Given the description of an element on the screen output the (x, y) to click on. 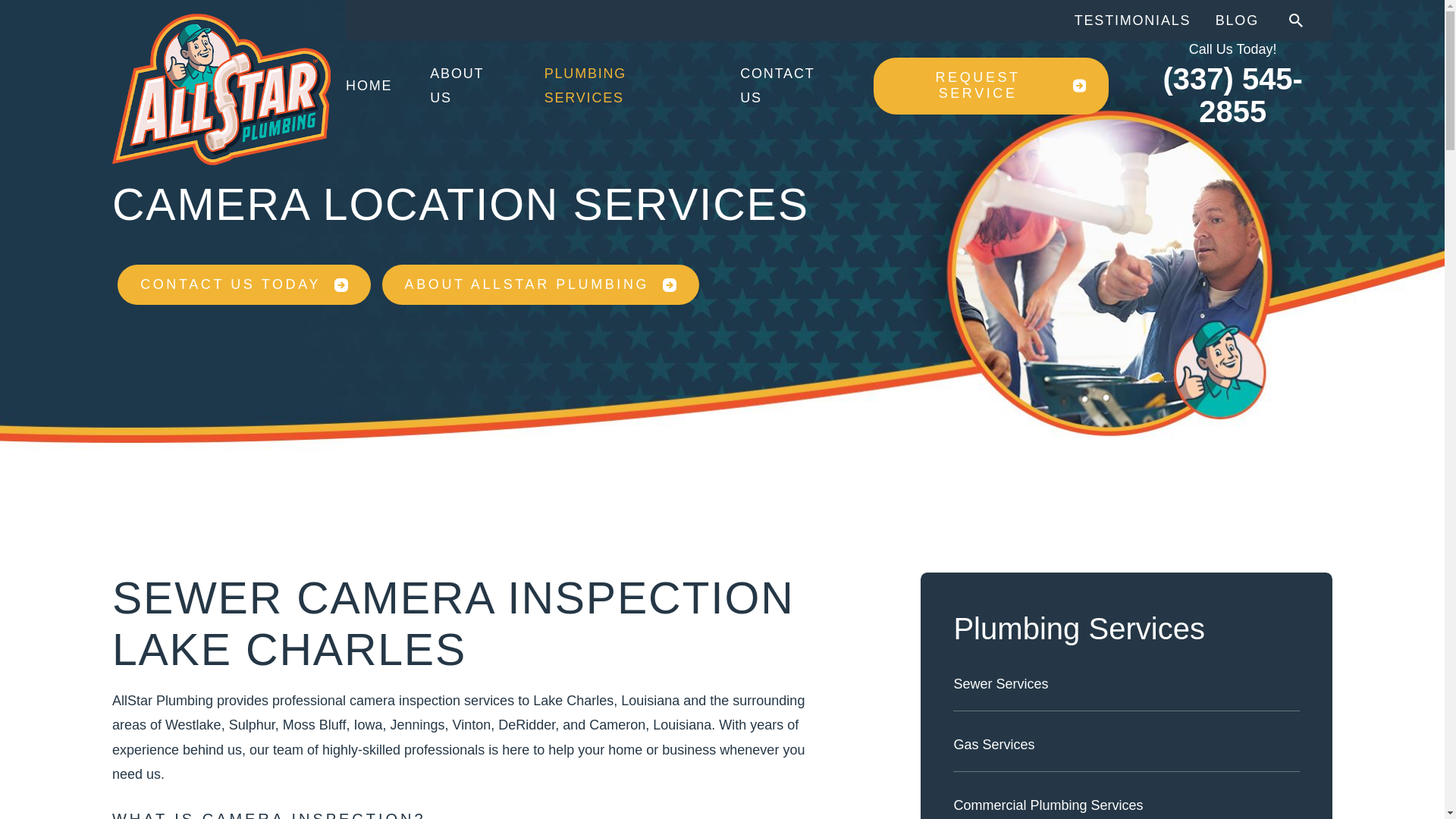
Home (221, 89)
HOME (368, 85)
ABOUT US (467, 85)
BLOG (1237, 20)
PLUMBING SERVICES (623, 85)
TESTIMONIALS (1132, 20)
CONTACT US (787, 85)
